Given the description of an element on the screen output the (x, y) to click on. 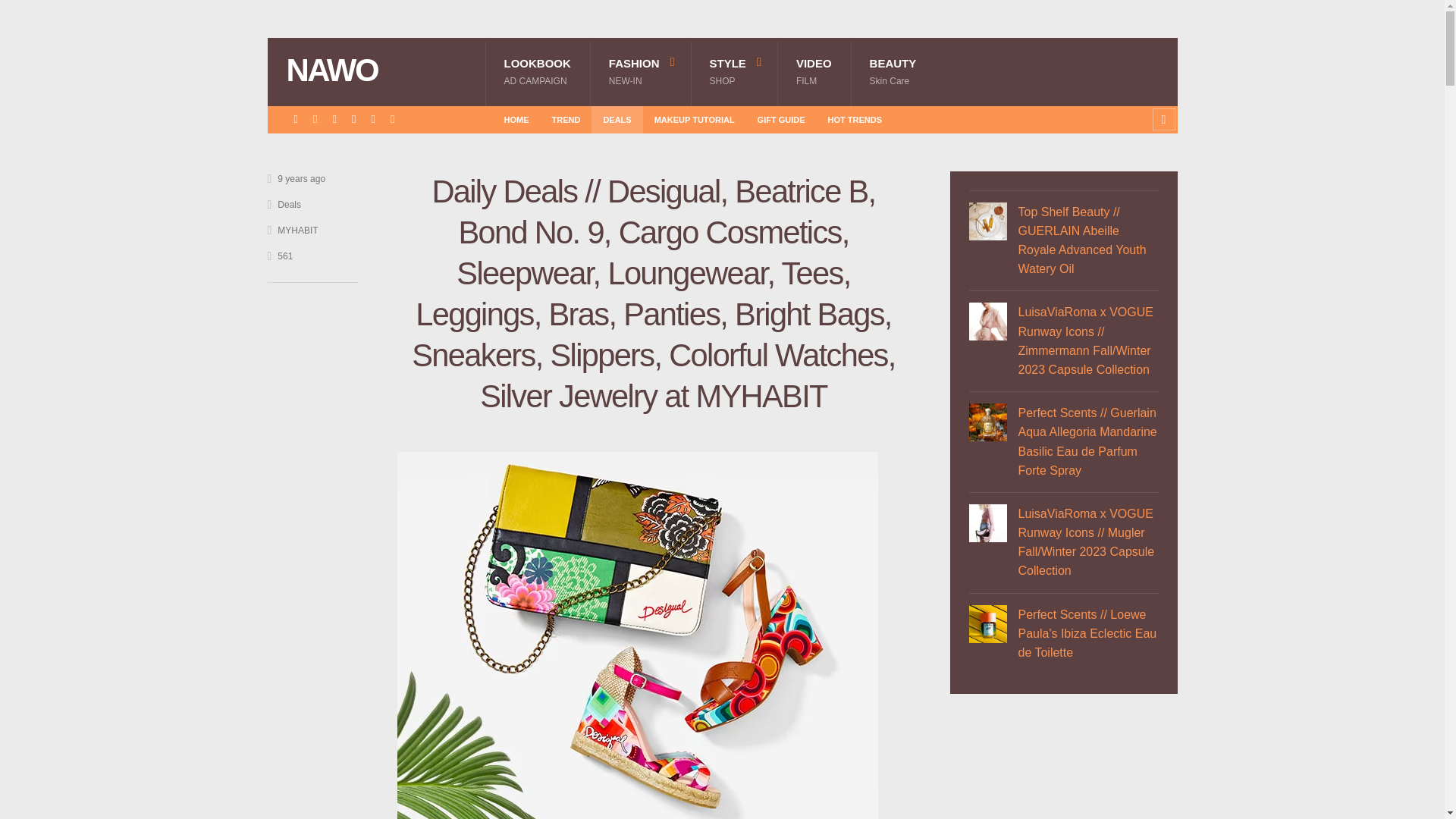
GIFT GUIDE (780, 119)
HOT TRENDS (854, 119)
TREND (733, 71)
NAWO (813, 71)
DEALS (565, 119)
MAKEUP TUTORIAL (893, 71)
HOME (377, 70)
